Given the description of an element on the screen output the (x, y) to click on. 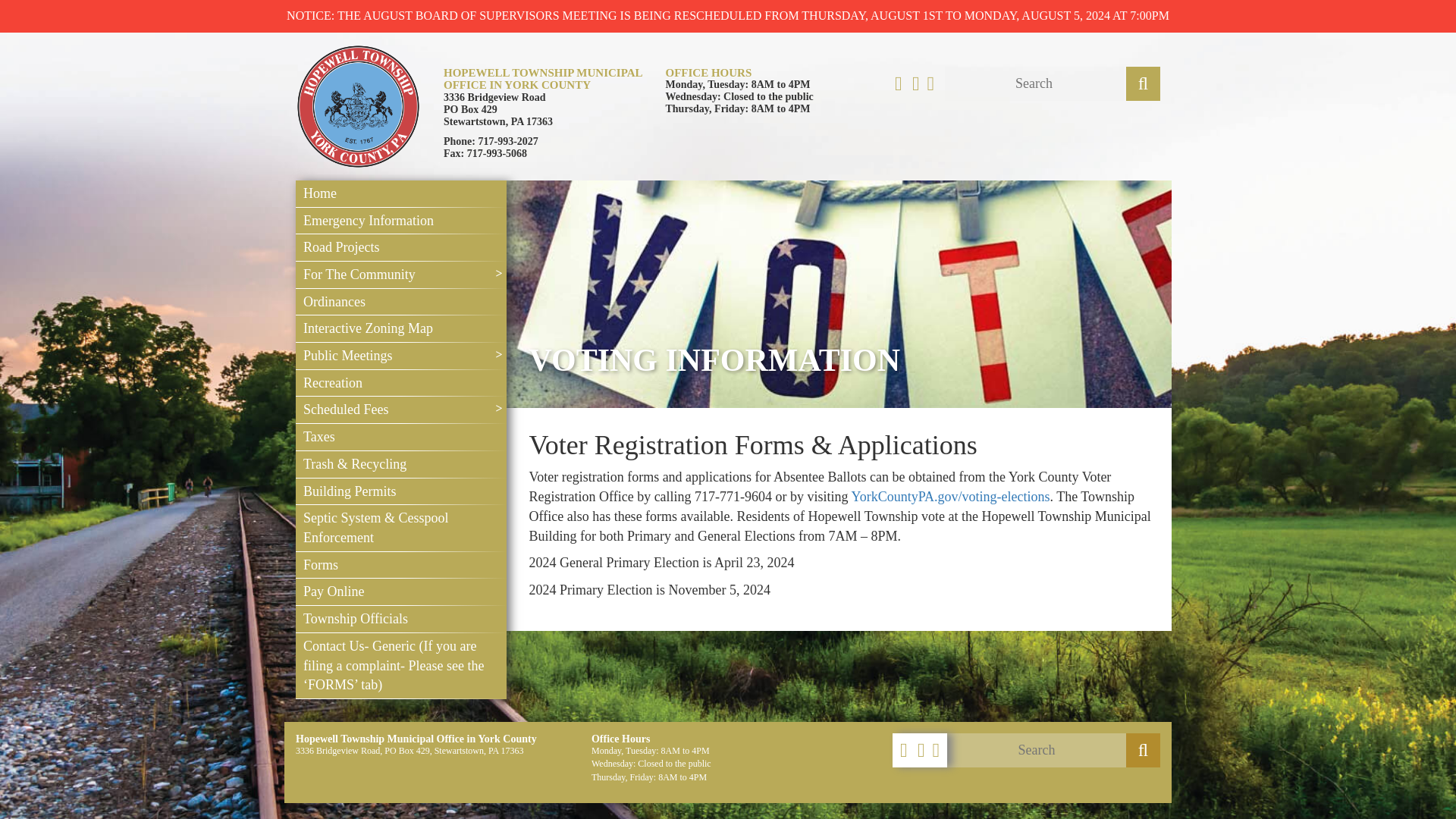
Scheduled Fees (400, 410)
Public Meetings (400, 356)
Interactive Zoning Map (400, 329)
Pay Online (400, 592)
Taxes (400, 437)
Ordinances (400, 302)
Search (1142, 750)
For The Community (400, 275)
Search (1142, 83)
Forms (400, 565)
Emergency Information (400, 221)
Road Projects (400, 247)
Home (400, 194)
Township Officials (400, 619)
Recreation (400, 383)
